Given the description of an element on the screen output the (x, y) to click on. 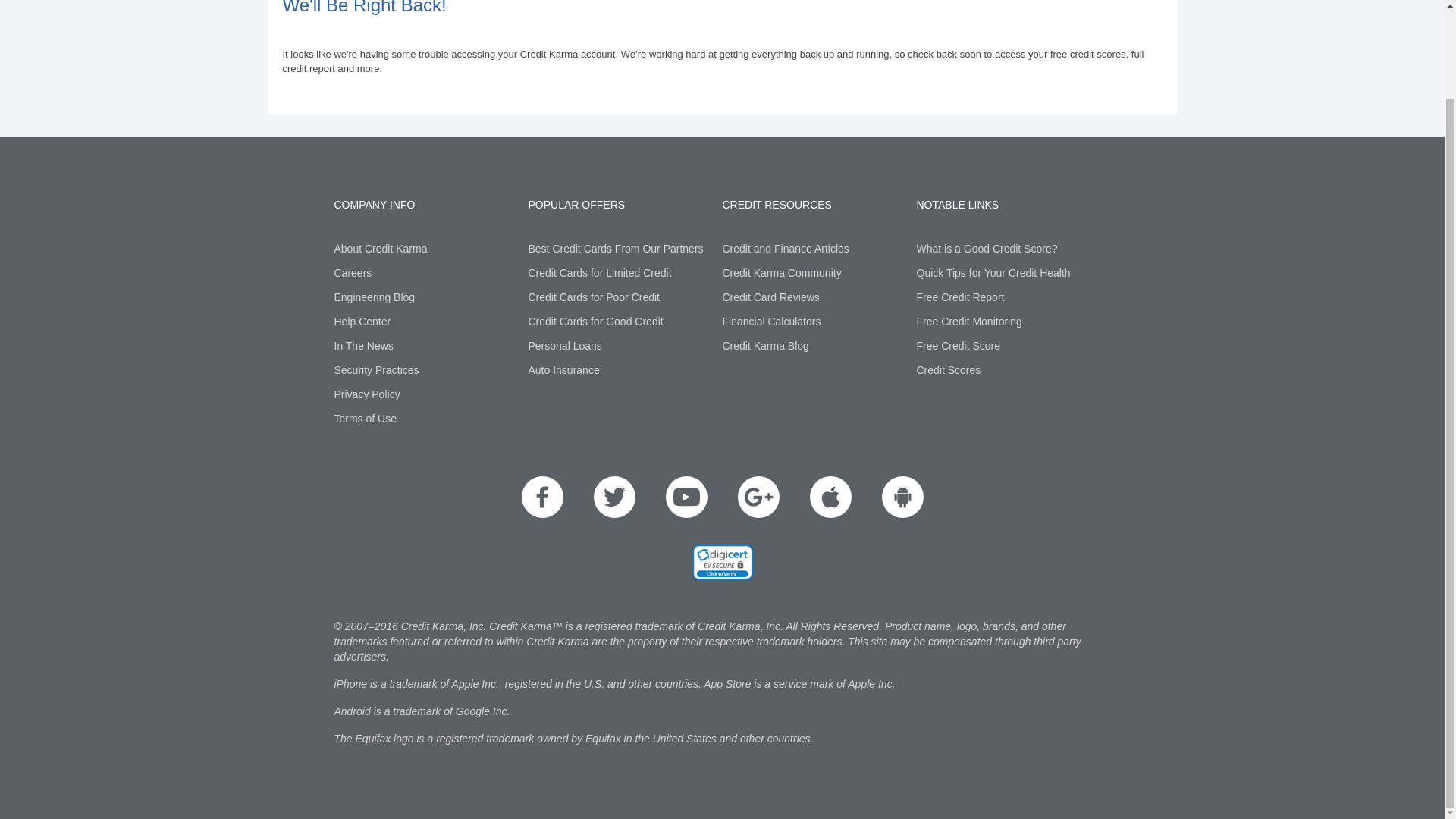
Facebook (542, 496)
Download iOS App (830, 496)
YouTube (686, 496)
Google Plus (757, 496)
Twitter (613, 496)
Download Android App (901, 496)
